Given the description of an element on the screen output the (x, y) to click on. 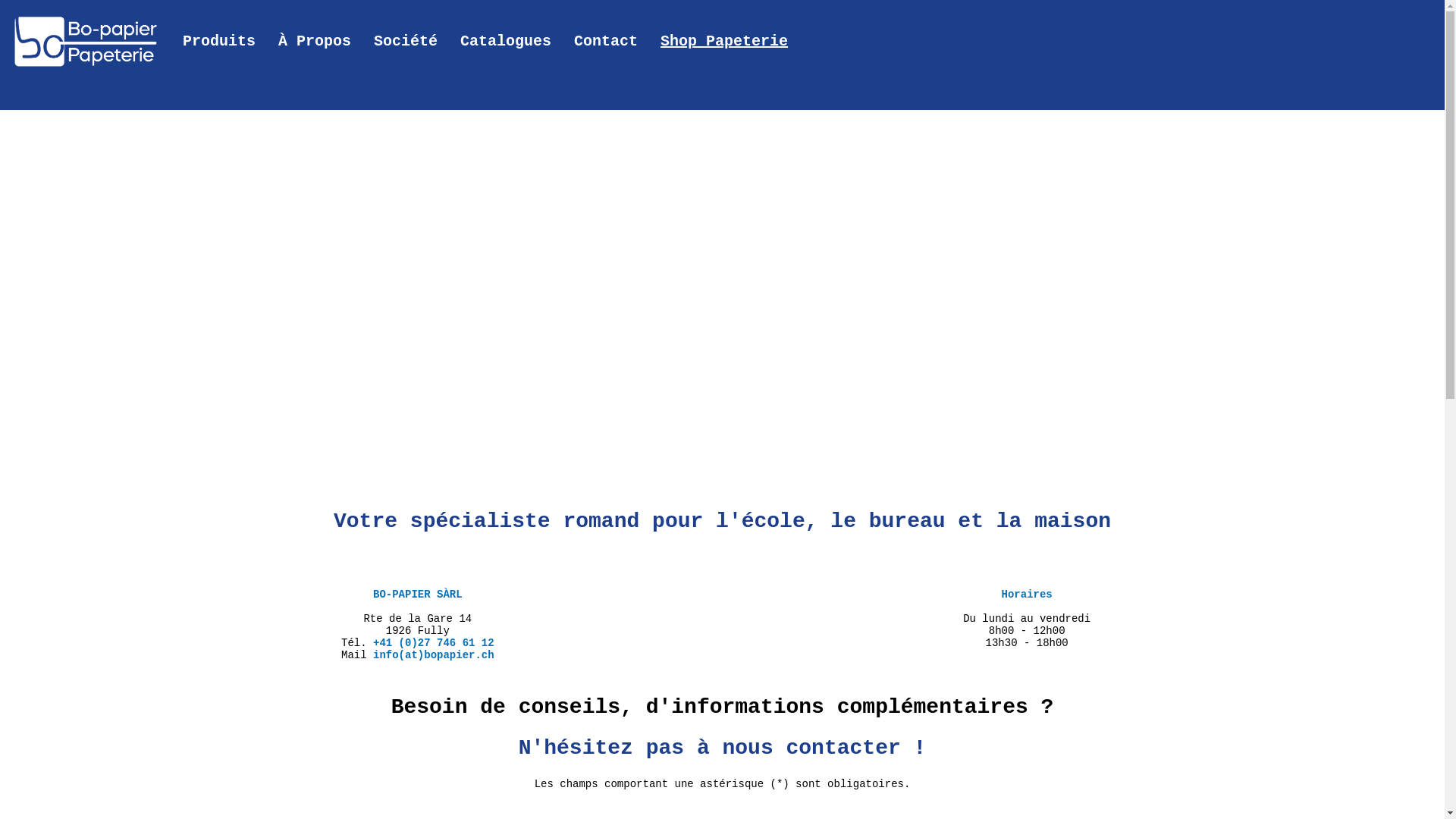
Contact Element type: text (605, 41)
Shop Papeterie Element type: text (724, 41)
info(at)bopapier.ch Element type: text (433, 655)
Produits Element type: text (218, 41)
Catalogues Element type: text (505, 41)
+41 (0)27 746 61 12 Element type: text (433, 643)
